Given the description of an element on the screen output the (x, y) to click on. 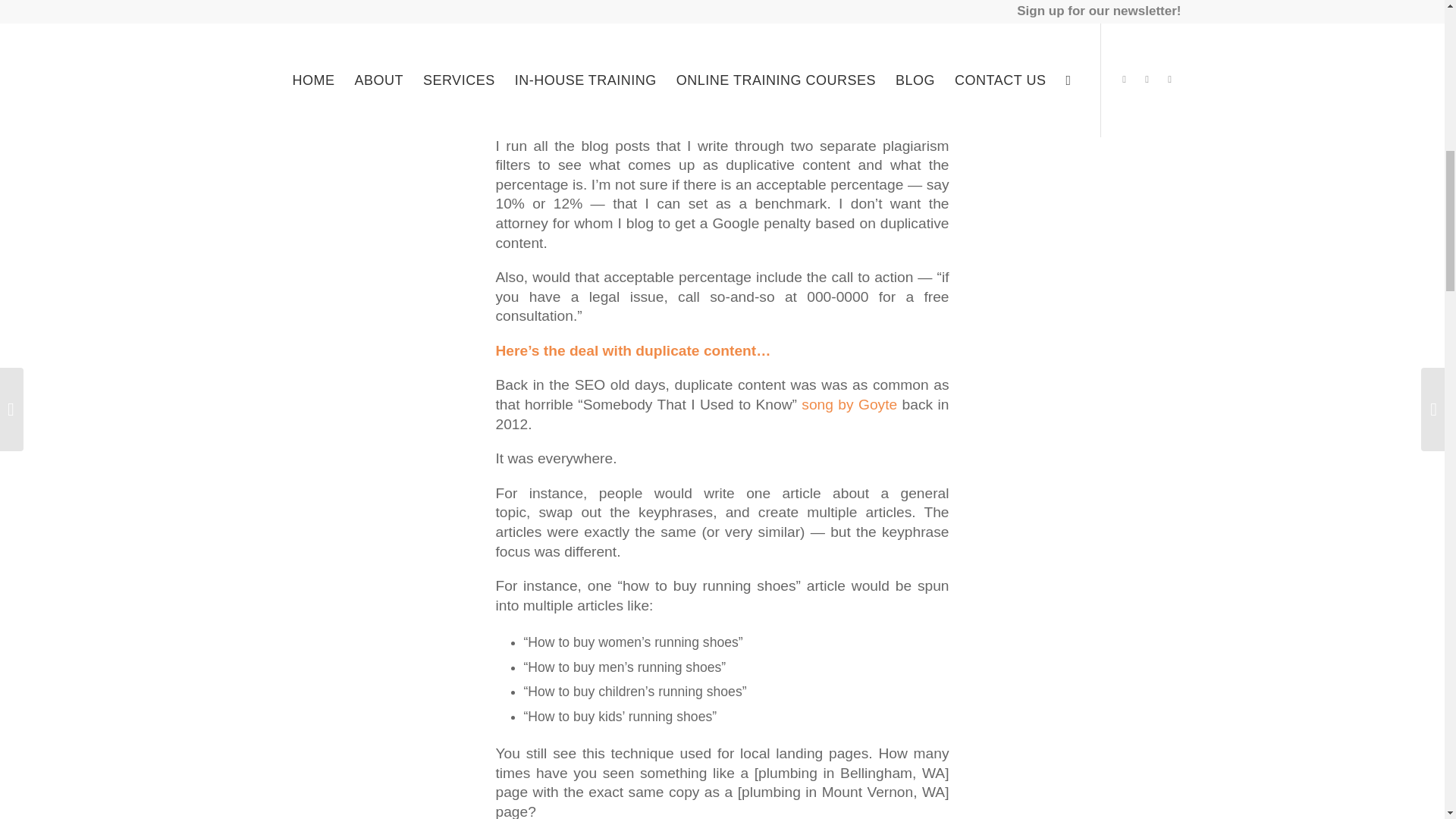
song by Goyte (849, 404)
